Given the description of an element on the screen output the (x, y) to click on. 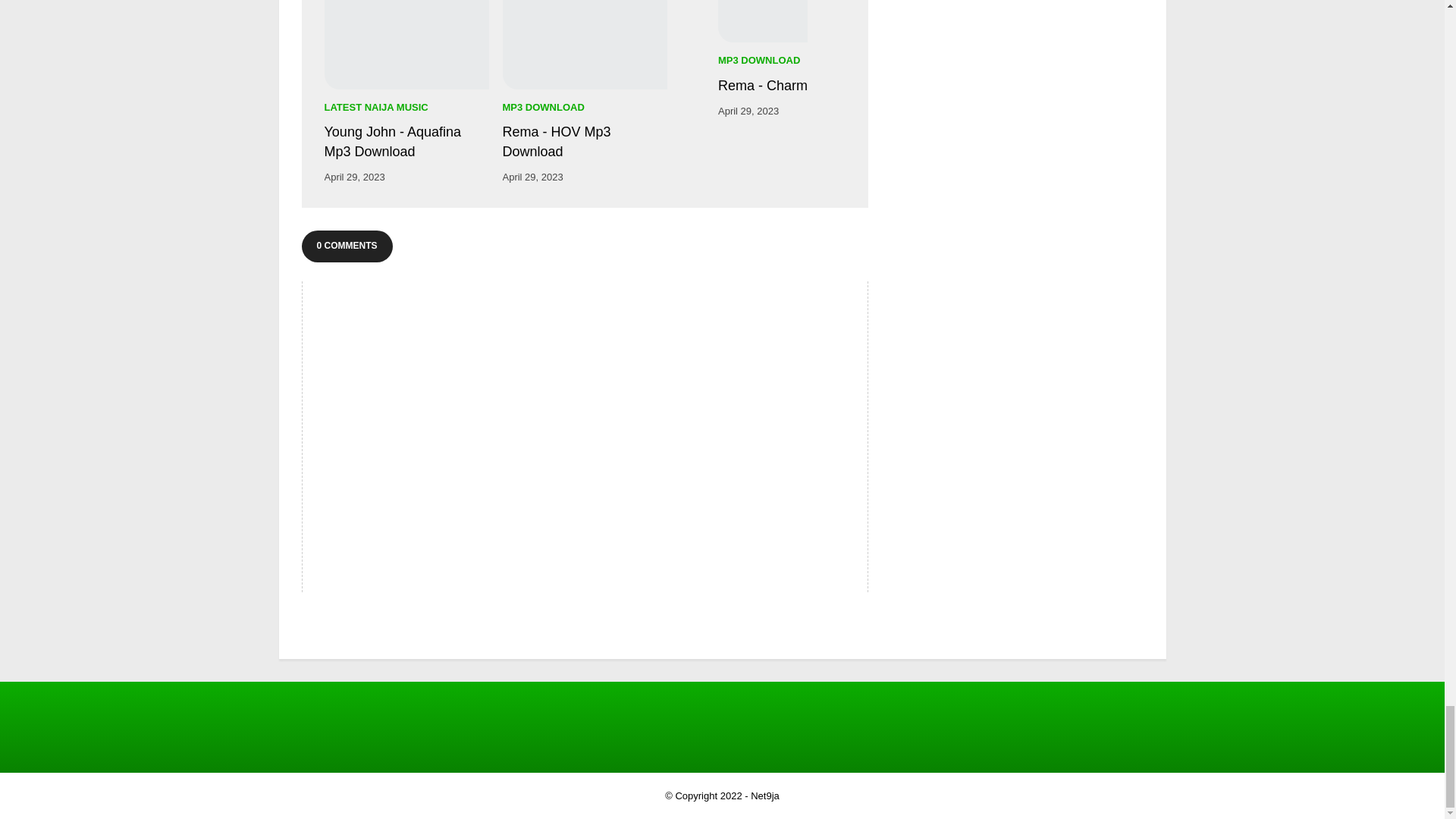
Young John - Aquafina Mp3 Download (406, 44)
Rema - HOV Mp3 Download  (584, 141)
Rema - HOV Mp3 Download  (584, 44)
Young John - Aquafina Mp3 Download (406, 141)
Rema - Charm  (762, 85)
Rema - Charm  (762, 21)
